Given the description of an element on the screen output the (x, y) to click on. 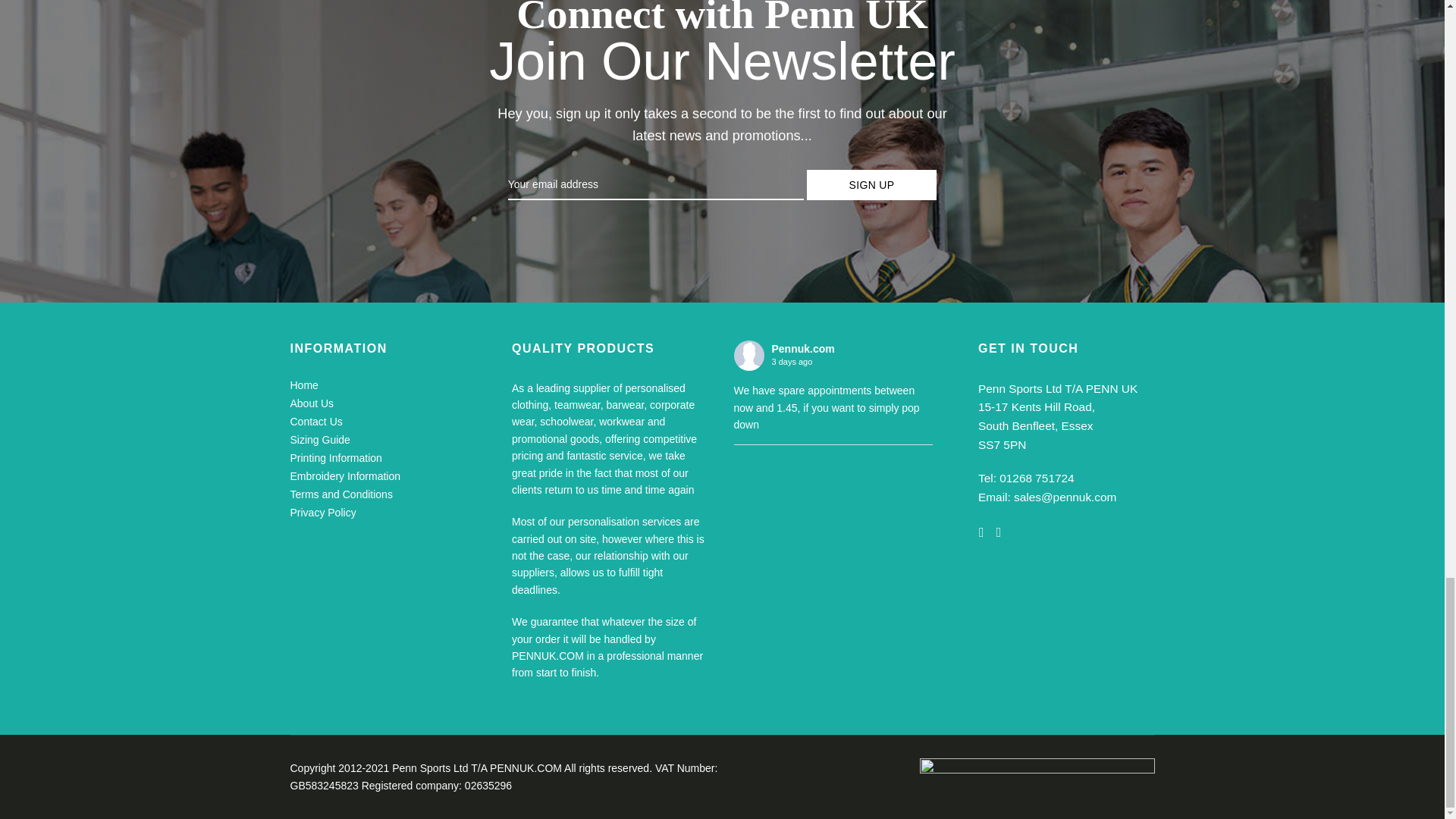
Sign up (871, 184)
pay-logos (1036, 780)
Likebox Iframe (833, 517)
